Given the description of an element on the screen output the (x, y) to click on. 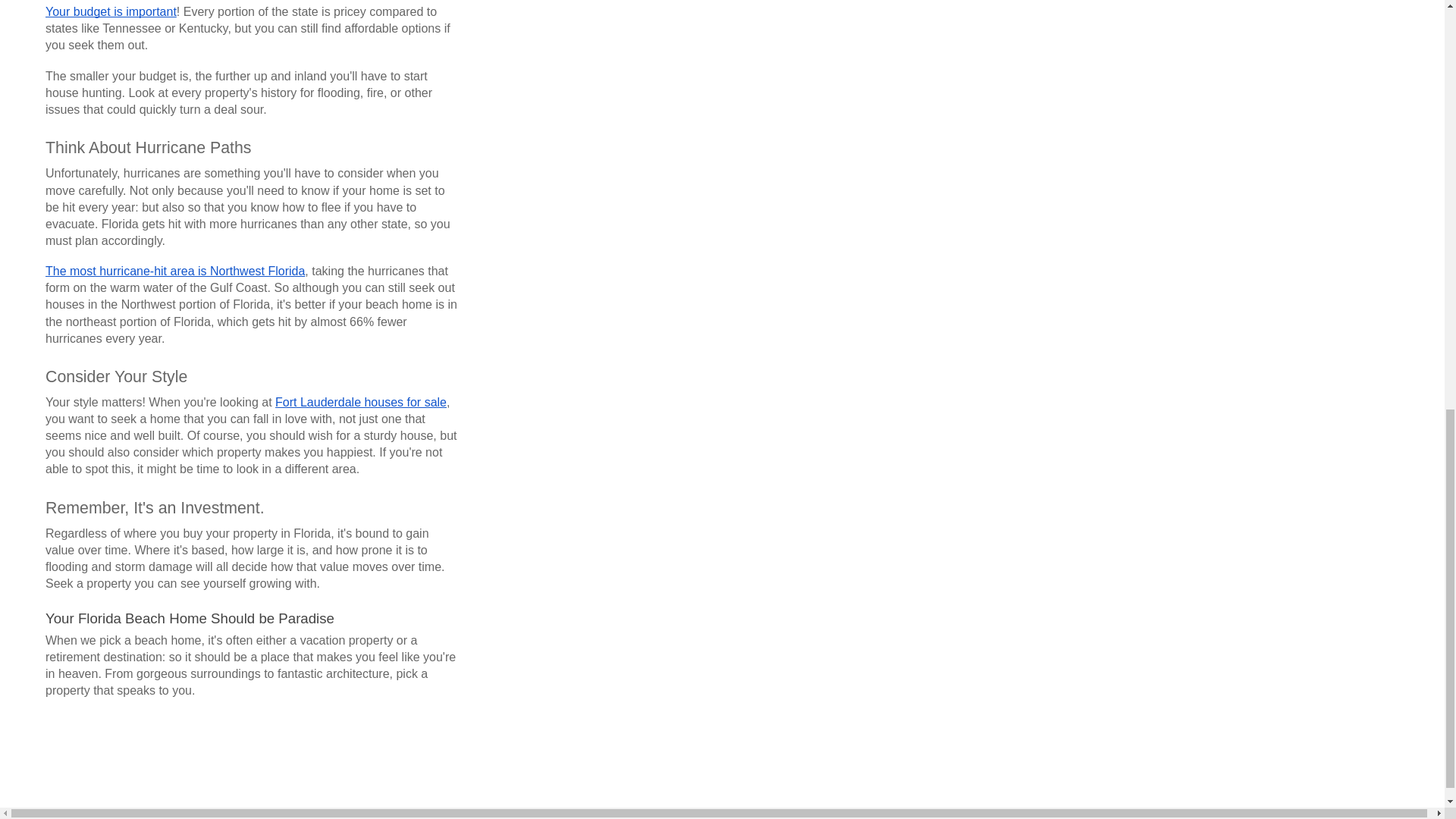
The most hurricane-hit area is Northwest Florida (174, 271)
Your budget is important (110, 12)
Fort Lauderdale houses for sale (360, 402)
